Given the description of an element on the screen output the (x, y) to click on. 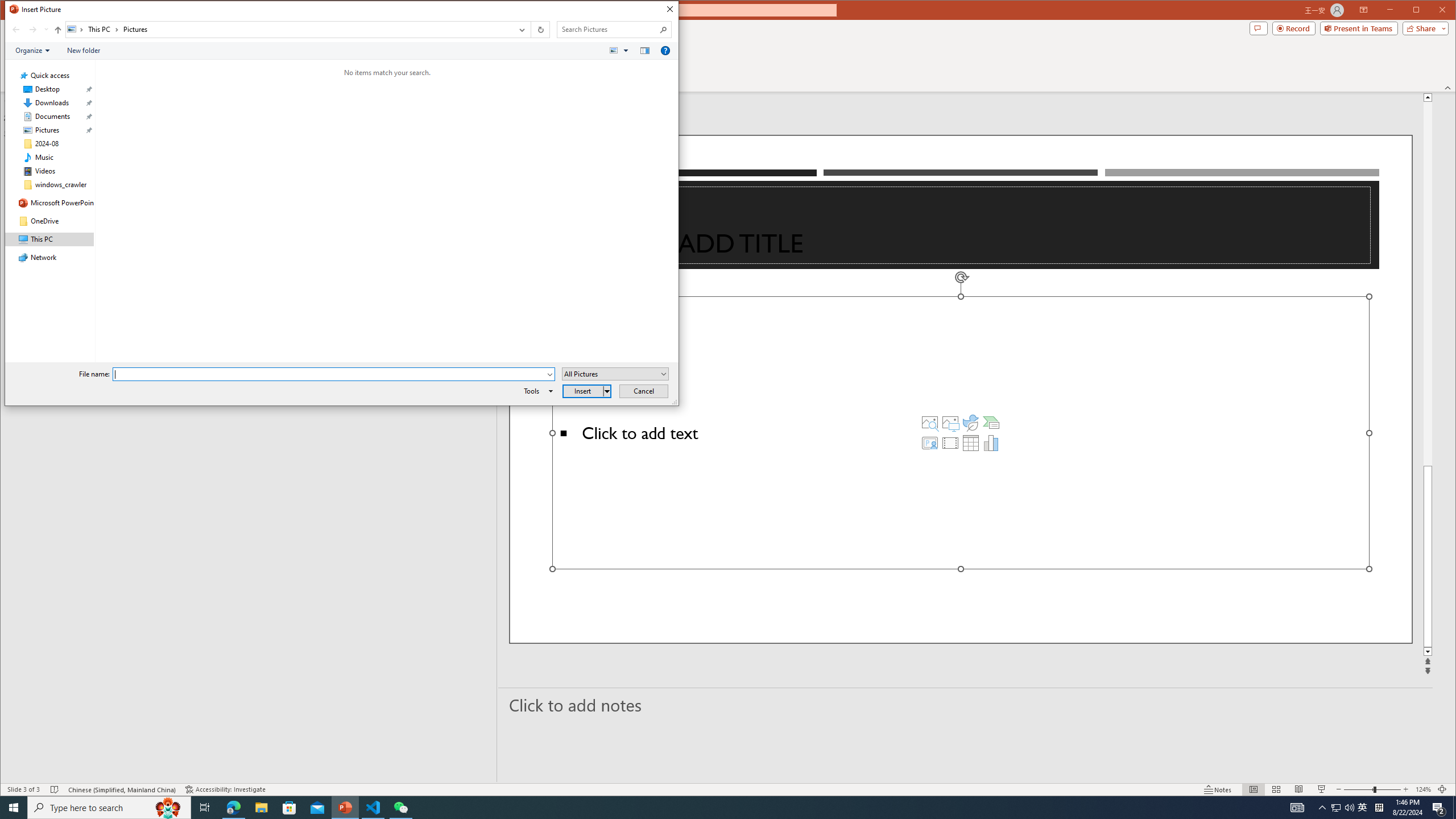
File Explorer (261, 807)
Line up (1427, 96)
Refresh "Pictures" (F5) (538, 29)
File name: (329, 374)
Up band toolbar (57, 31)
Slide Notes (965, 704)
Back (Alt + Left Arrow) (15, 29)
Tools (536, 390)
Share (1422, 27)
Running applications (707, 807)
Insert a SmartArt Graphic (991, 422)
Q2790: 100% (1349, 807)
File name: (333, 373)
User Promoted Notification Area (1342, 807)
